Given the description of an element on the screen output the (x, y) to click on. 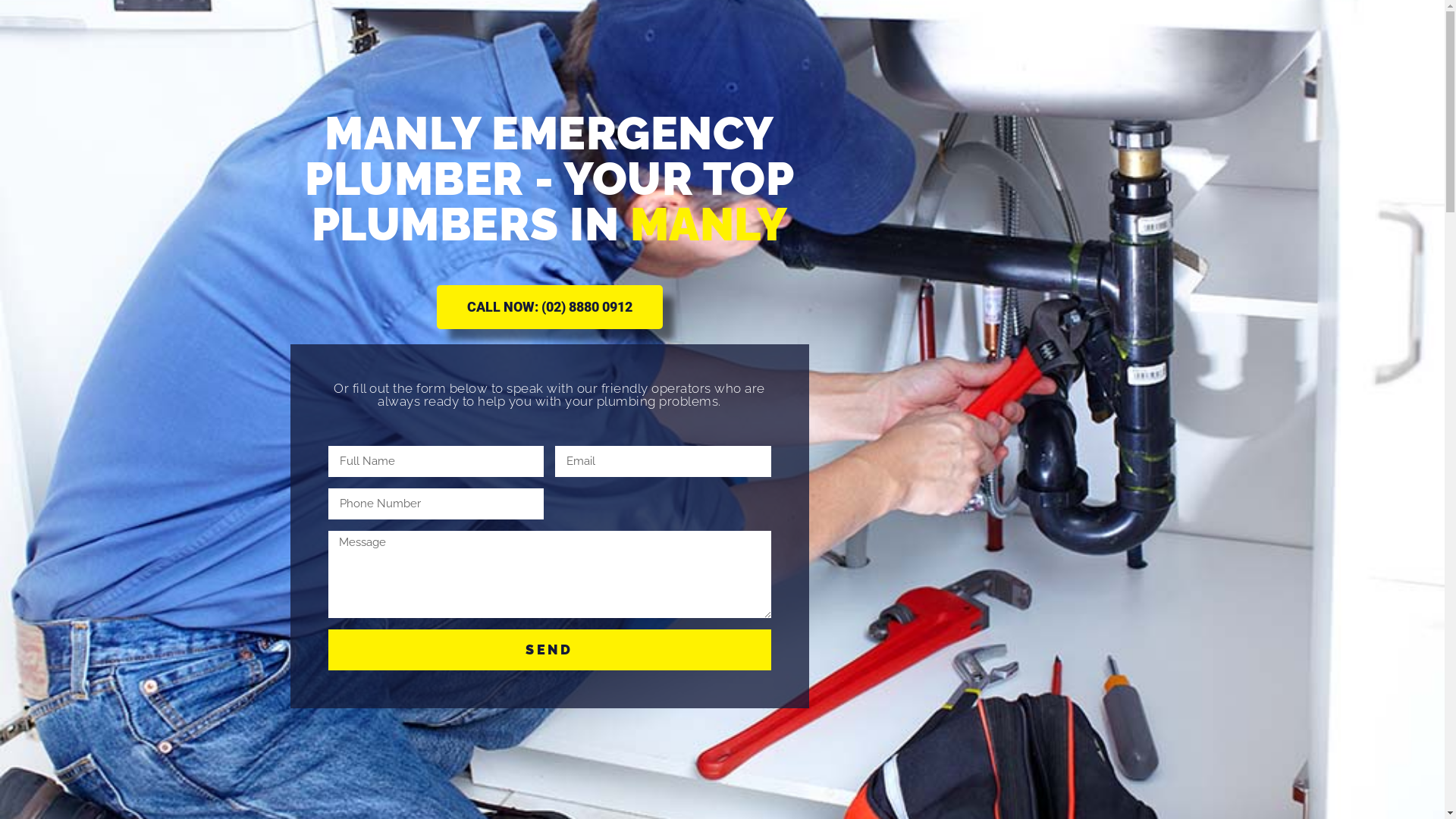
SEND Element type: text (548, 649)
CALL NOW: (02) 8880 0912 Element type: text (549, 307)
